Given the description of an element on the screen output the (x, y) to click on. 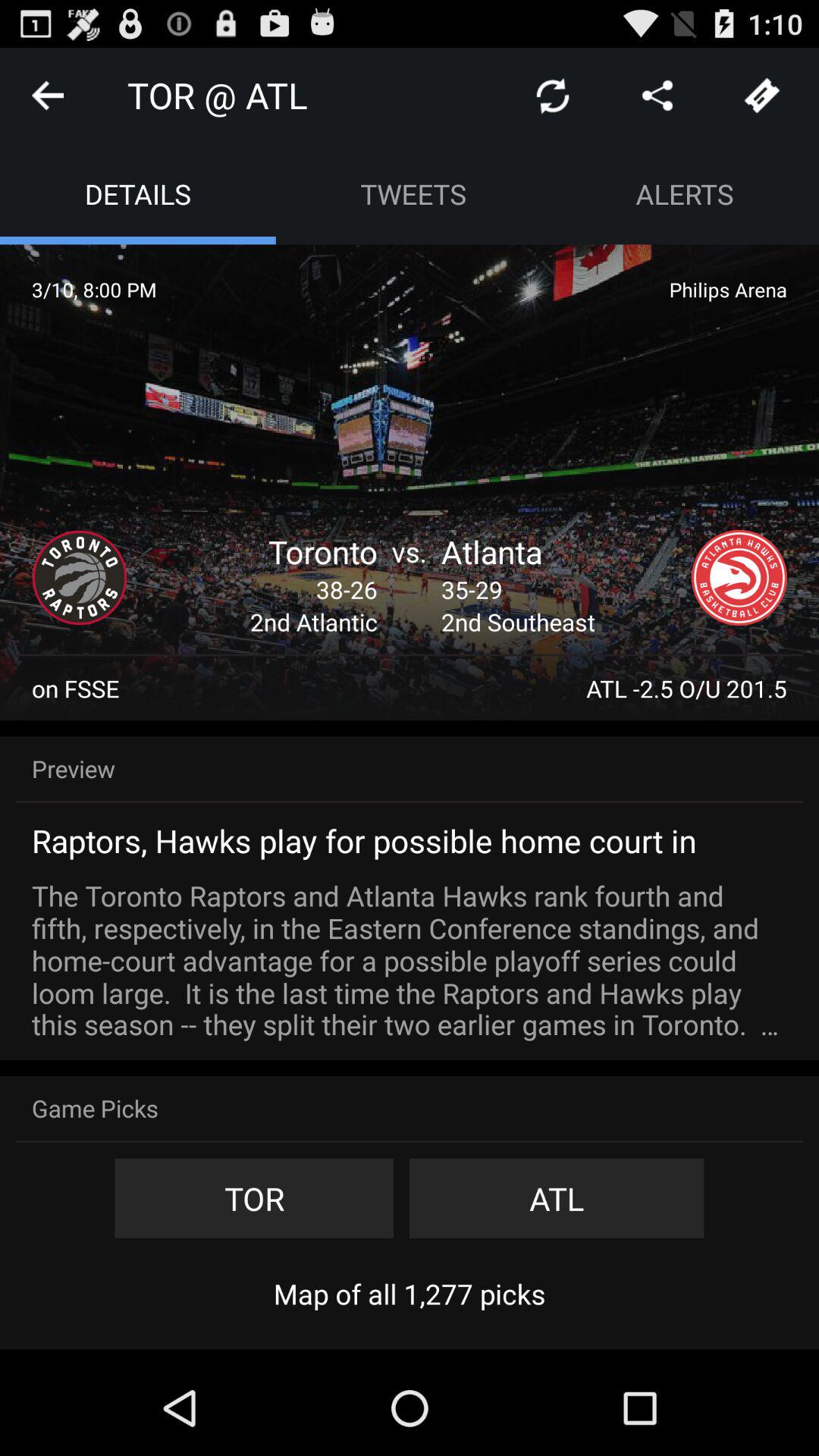
jump until the map of all icon (409, 1293)
